Given the description of an element on the screen output the (x, y) to click on. 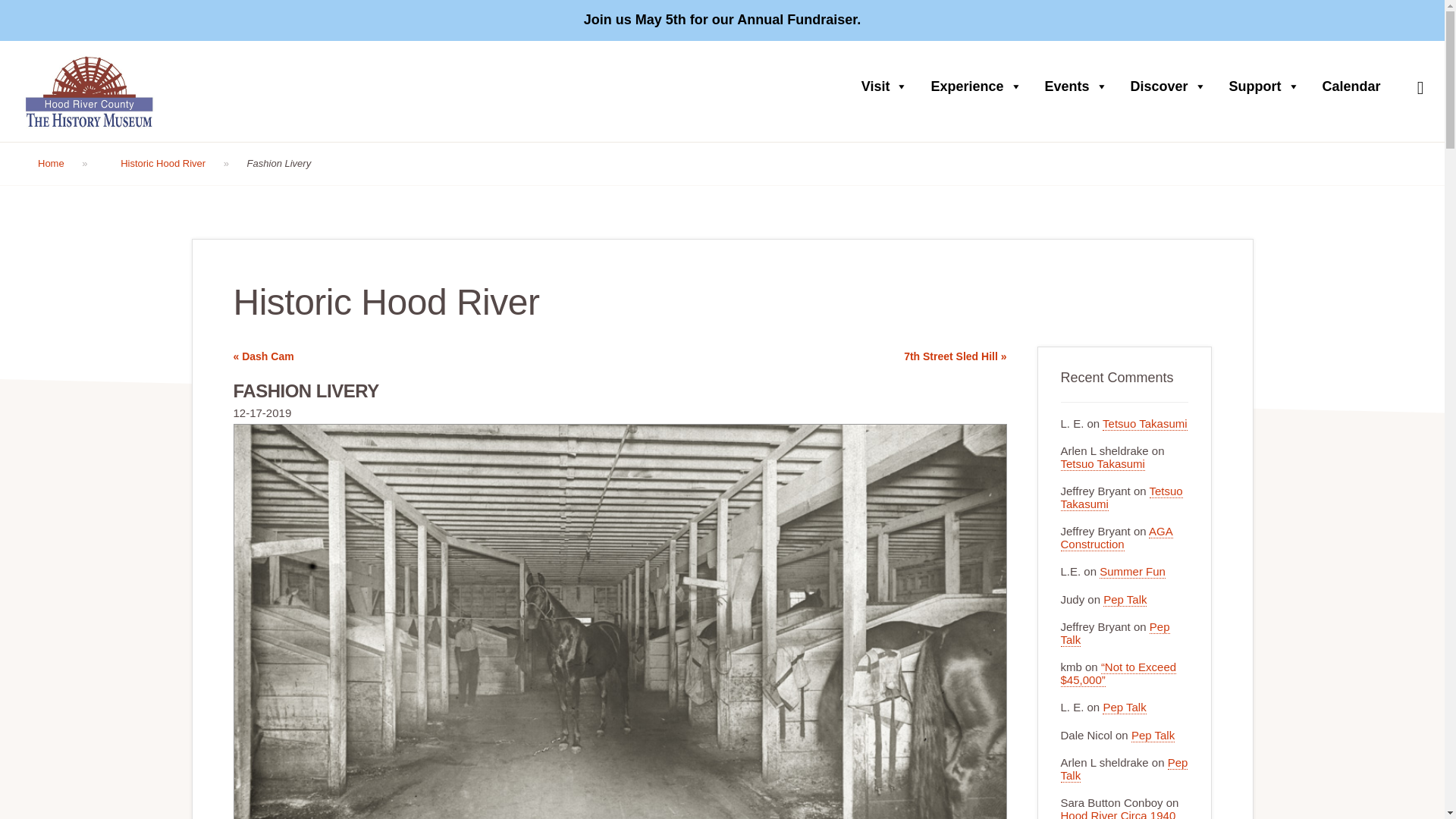
Experience (979, 86)
Visit (888, 86)
Support (1267, 86)
Calendar (1355, 86)
Historic Hood River (174, 163)
Become A Member (1366, 20)
Subscribe (983, 737)
Events (1079, 86)
Donate (1282, 20)
Discover (1171, 86)
Home (63, 163)
